Given the description of an element on the screen output the (x, y) to click on. 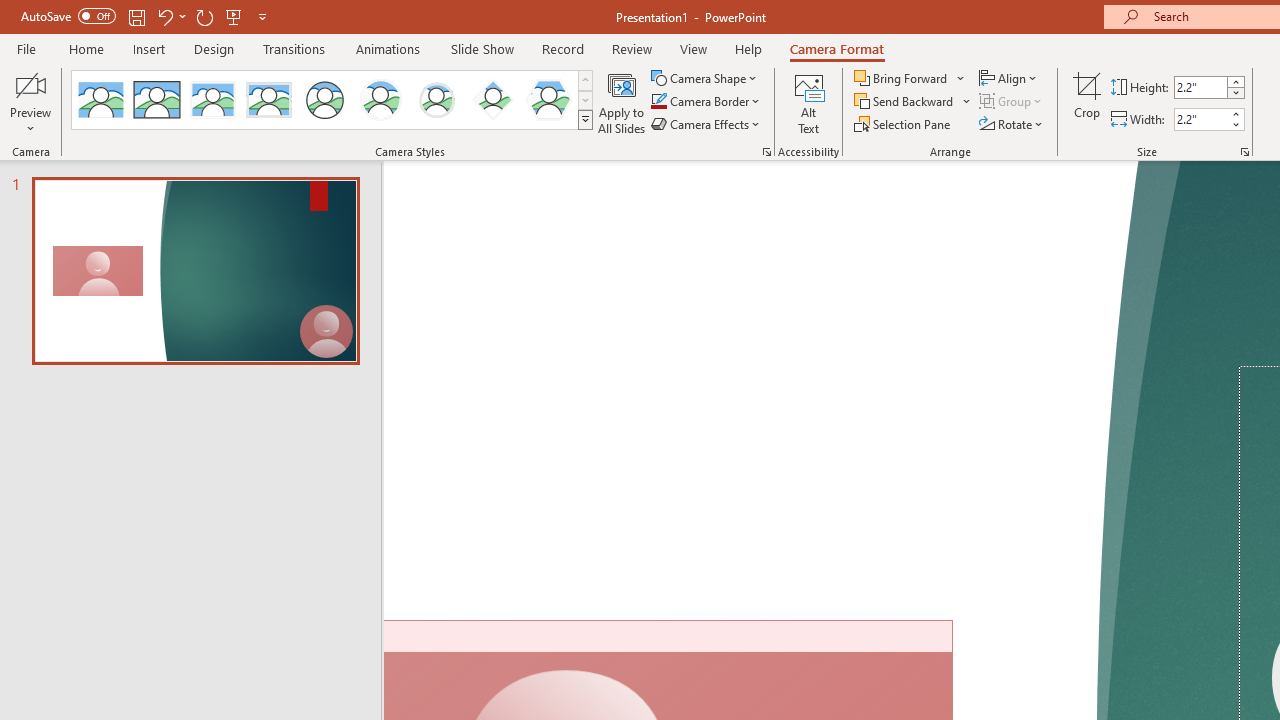
Selection Pane... (904, 124)
No Style (100, 100)
Camera Styles (585, 120)
Camera Border (706, 101)
Send Backward (913, 101)
Apply to All Slides (621, 102)
Center Shadow Hexagon (548, 100)
Simple Frame Rectangle (157, 100)
Center Shadow Circle (381, 100)
